Given the description of an element on the screen output the (x, y) to click on. 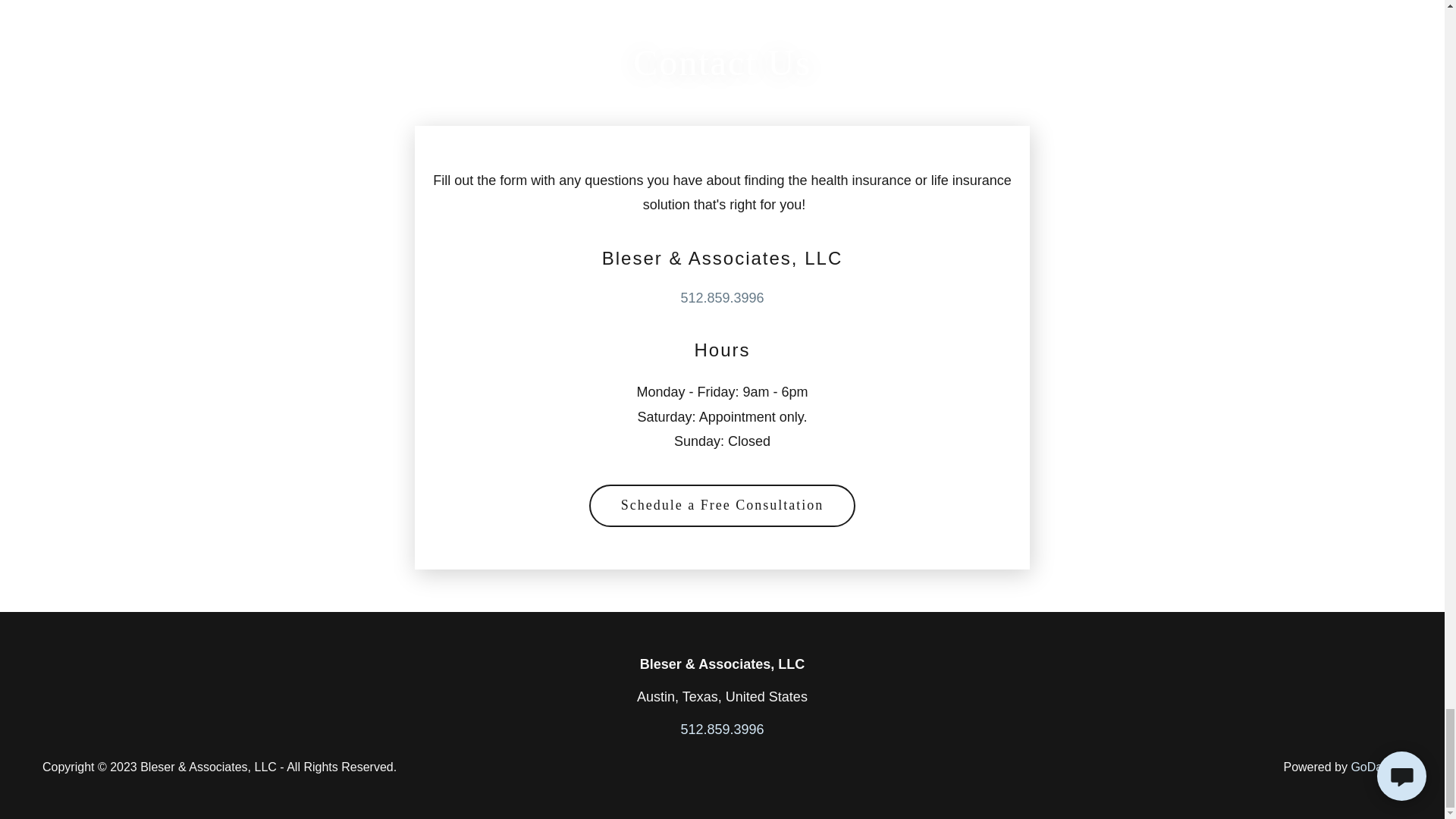
512.859.3996 (720, 297)
